Given the description of an element on the screen output the (x, y) to click on. 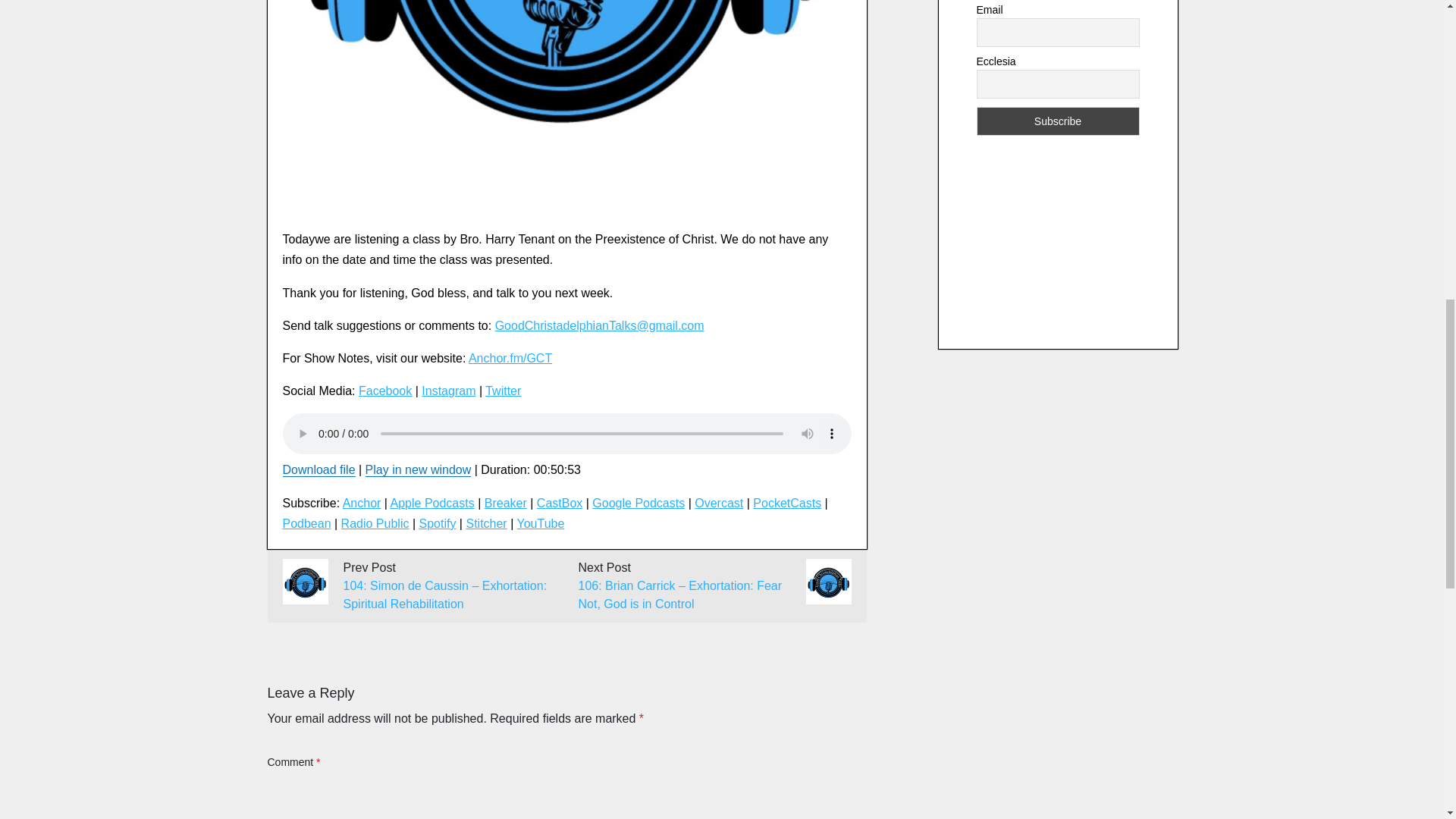
Breaker (505, 502)
CastBox (559, 502)
Google Podcasts (638, 502)
Breaker (505, 502)
Facebook (385, 390)
PocketCasts (786, 502)
PocketCasts (786, 502)
Instagram (449, 390)
Twitter (502, 390)
Podbean (306, 522)
